Given the description of an element on the screen output the (x, y) to click on. 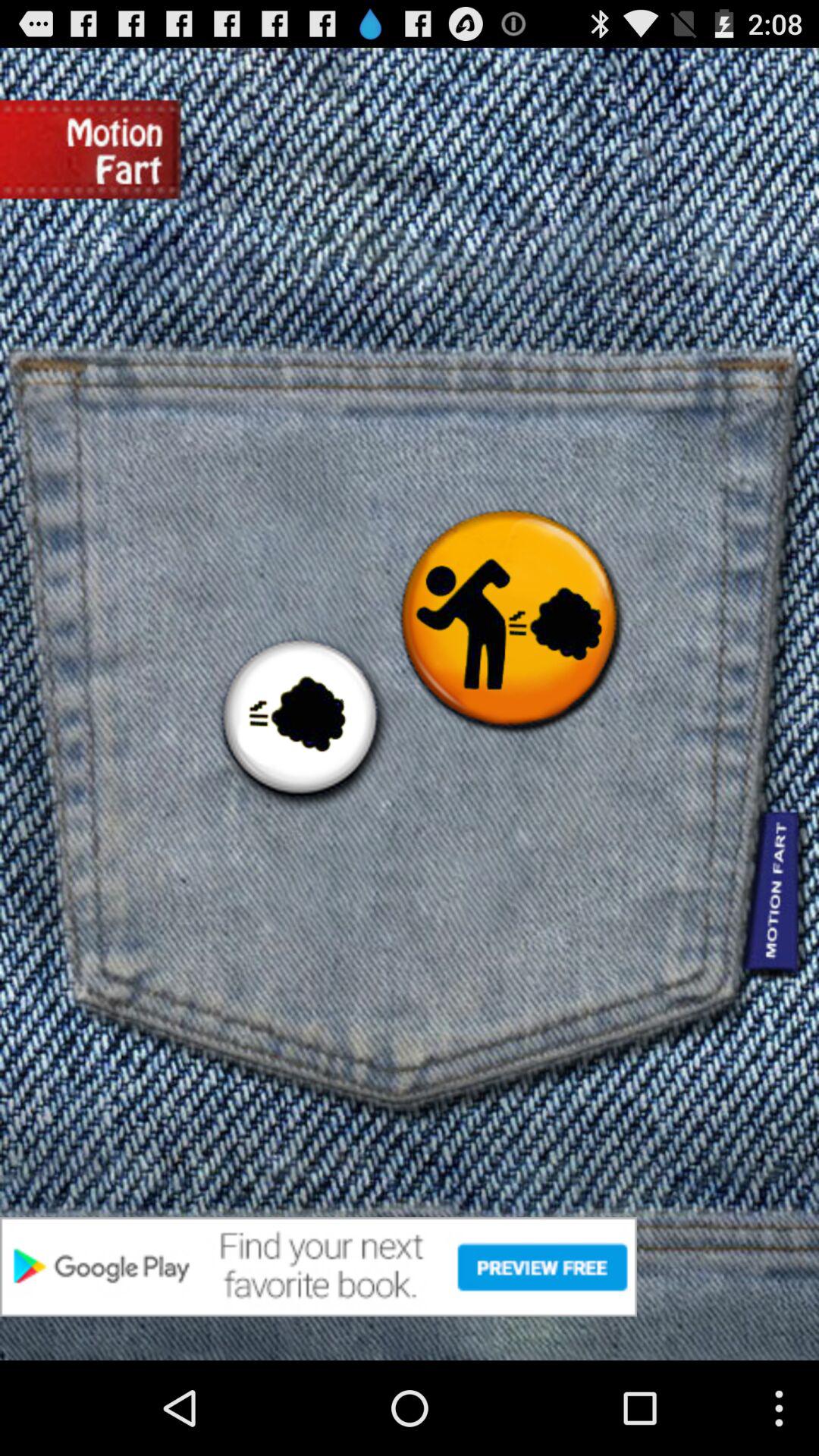
play store (409, 1266)
